Given the description of an element on the screen output the (x, y) to click on. 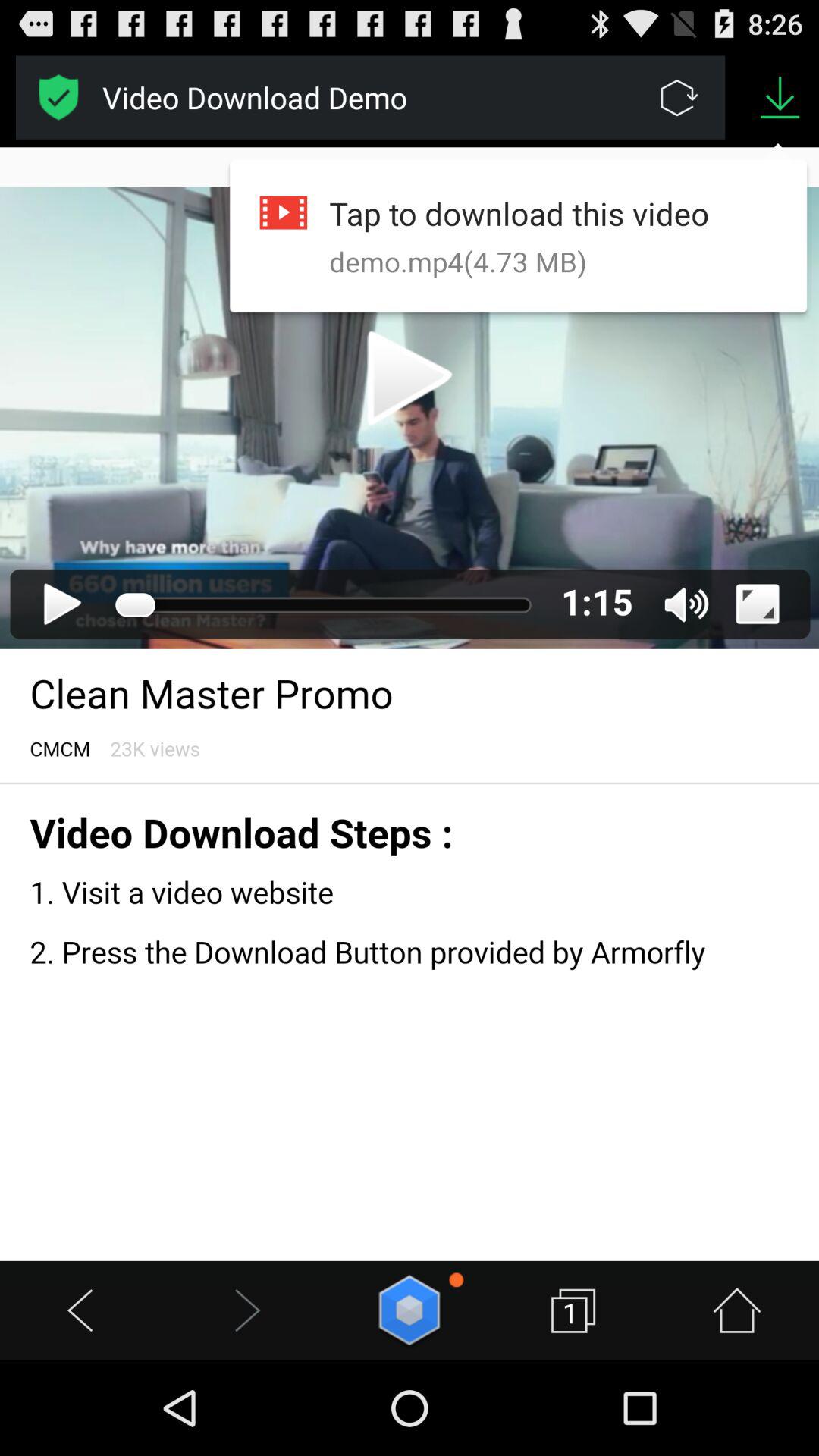
six-sided polygon (409, 1310)
